Given the description of an element on the screen output the (x, y) to click on. 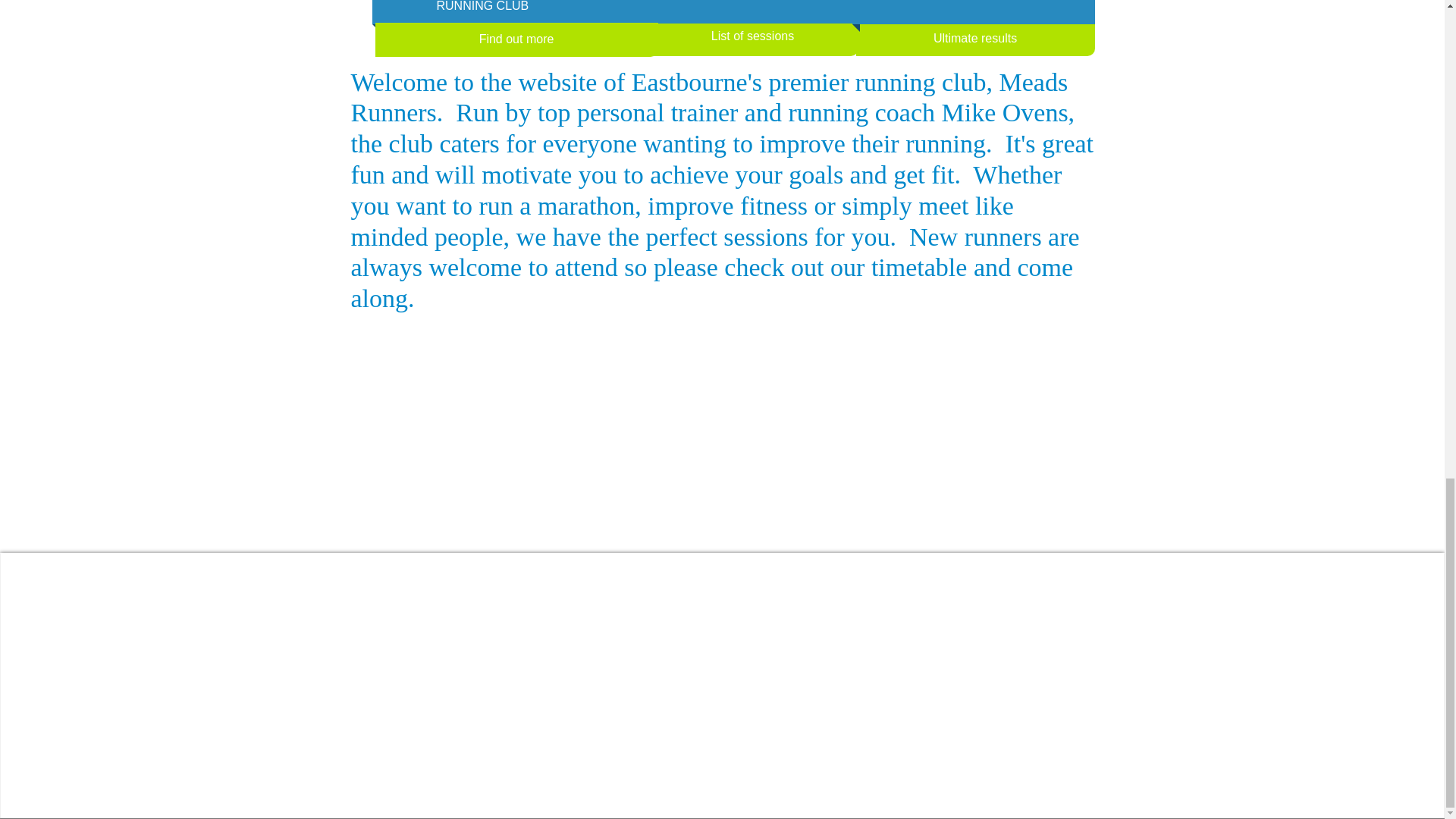
Find out more (516, 39)
List of sessions (753, 36)
Ultimate results (975, 39)
